Given the description of an element on the screen output the (x, y) to click on. 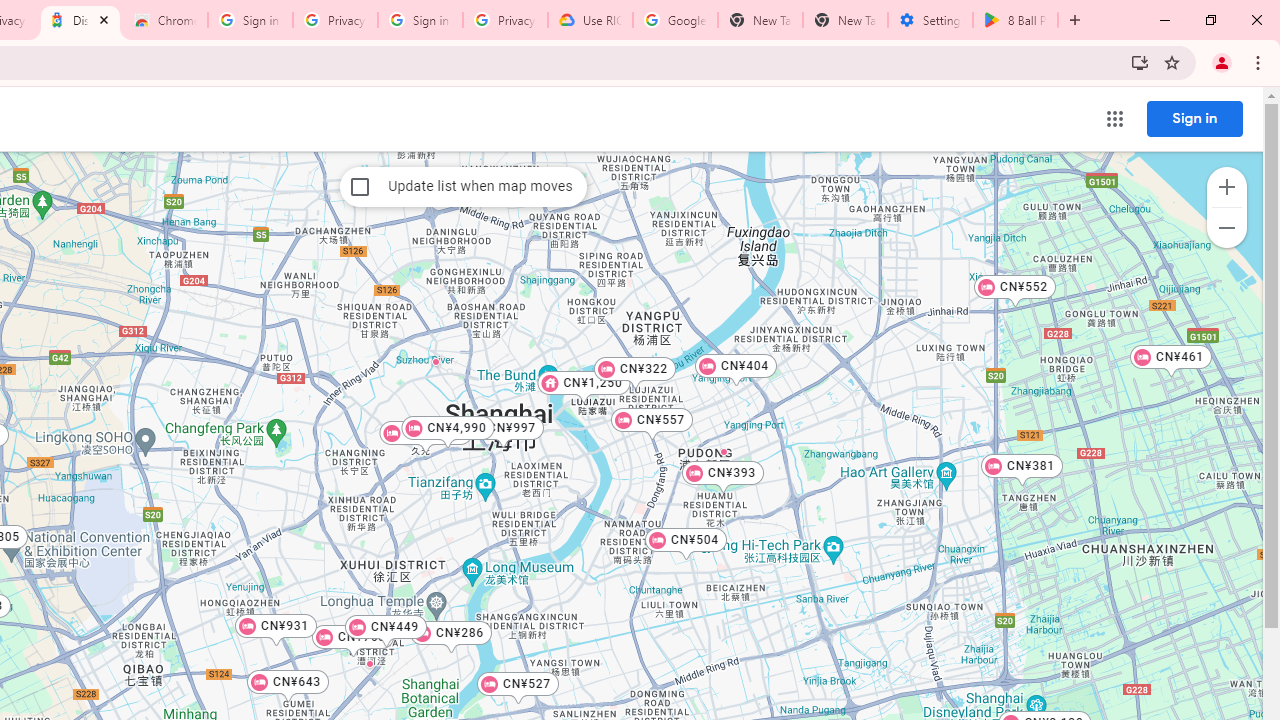
Install Trips all in one place (1139, 62)
Zoom out map (1226, 227)
New Tab (845, 20)
Vienna International Hotel (435, 361)
Junting Hotel (368, 663)
Z Hotel (519, 421)
